Given the description of an element on the screen output the (x, y) to click on. 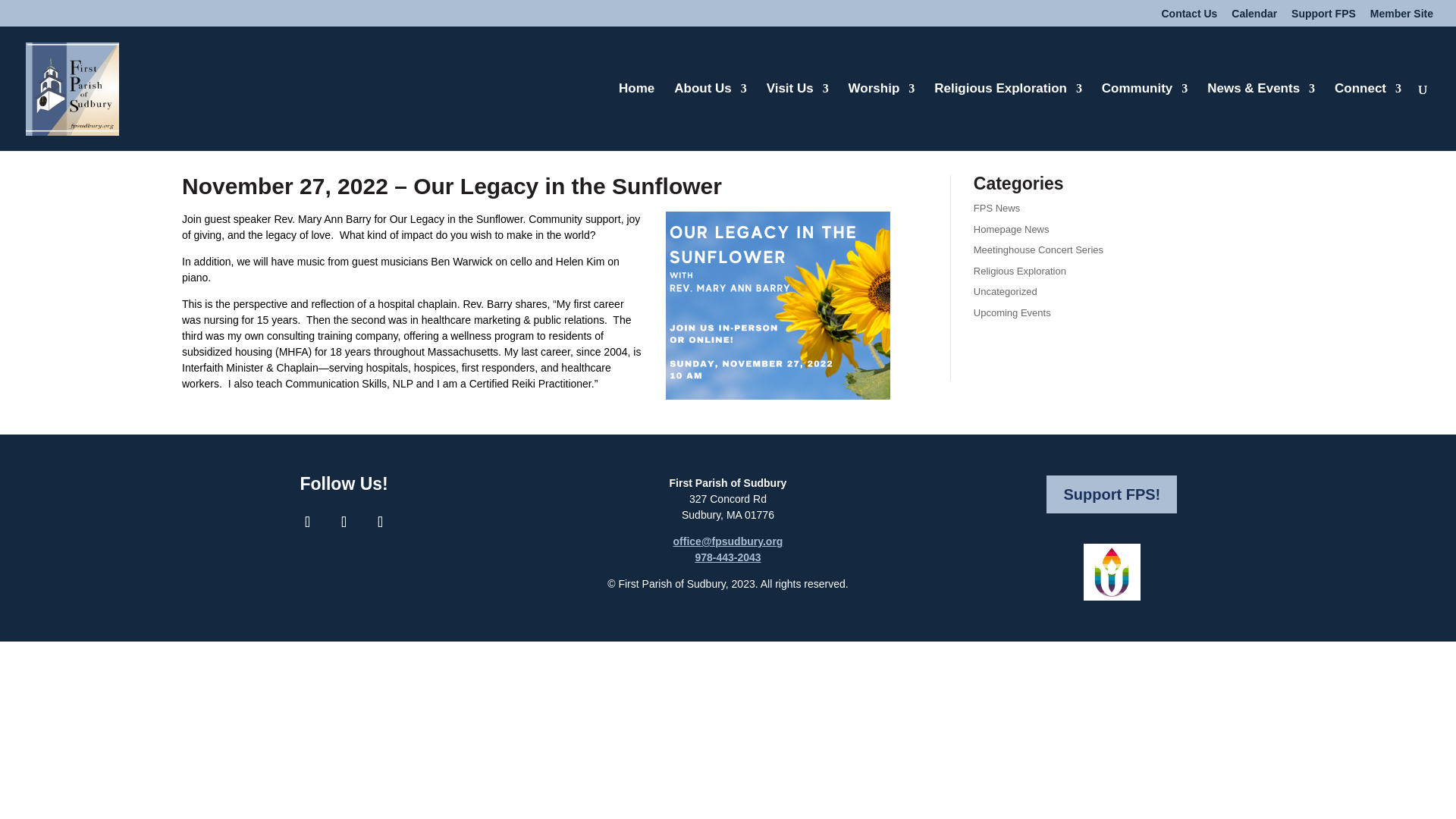
Follow on Youtube (380, 521)
About Us (710, 116)
Religious Exploration (1007, 116)
Community (1145, 116)
Visit Us (797, 116)
Follow on Instagram (344, 521)
Member Site (1401, 16)
Support FPS (1323, 16)
Worship (881, 116)
Follow on Facebook (307, 521)
